Given the description of an element on the screen output the (x, y) to click on. 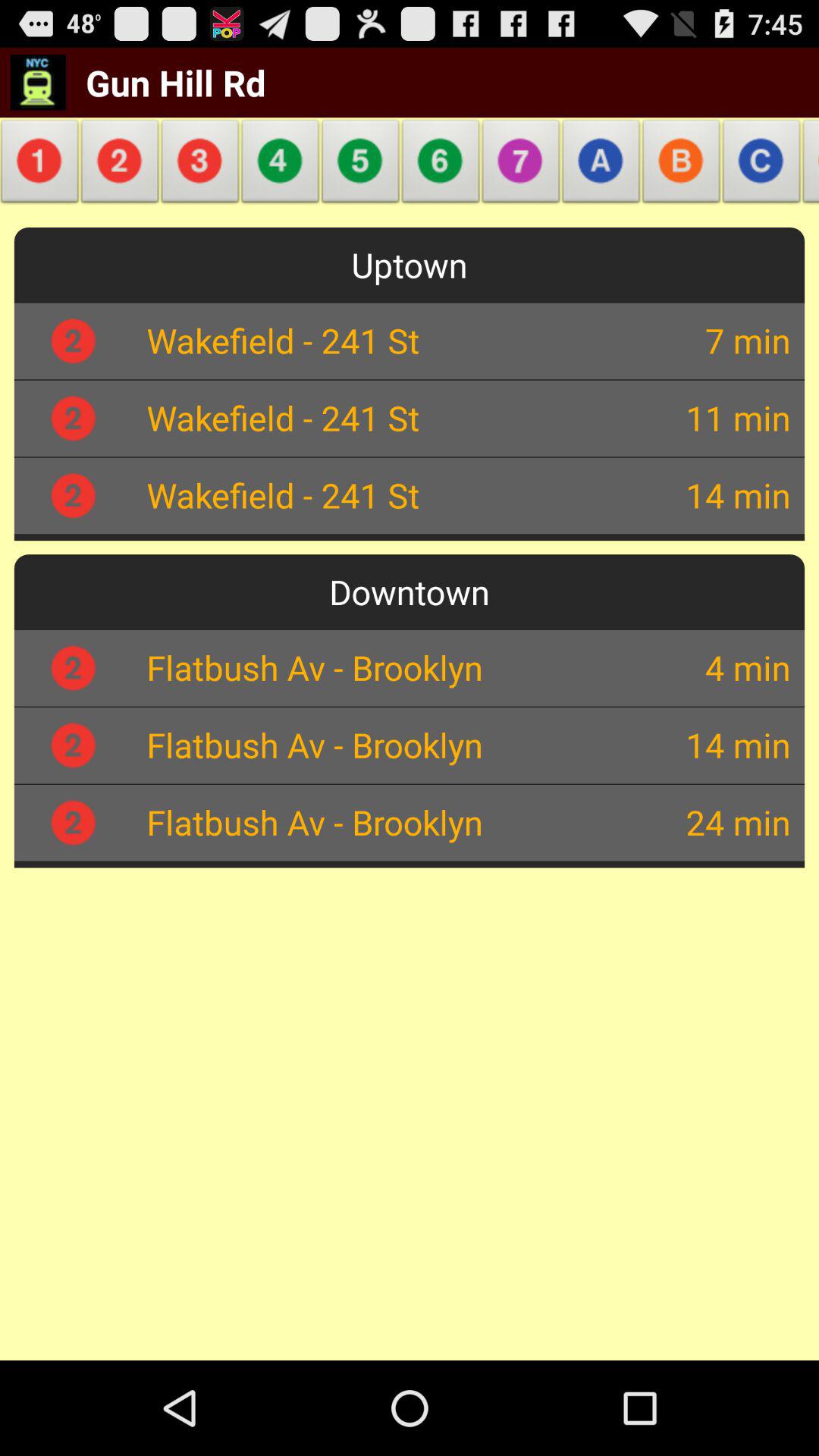
turn on icon next to wakefield - 241 st item (685, 340)
